Given the description of an element on the screen output the (x, y) to click on. 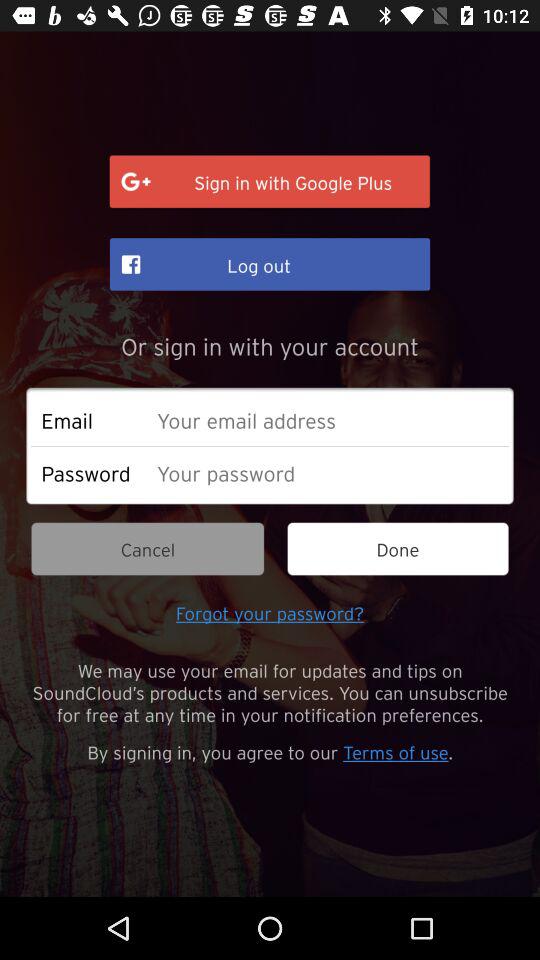
email (327, 420)
